Given the description of an element on the screen output the (x, y) to click on. 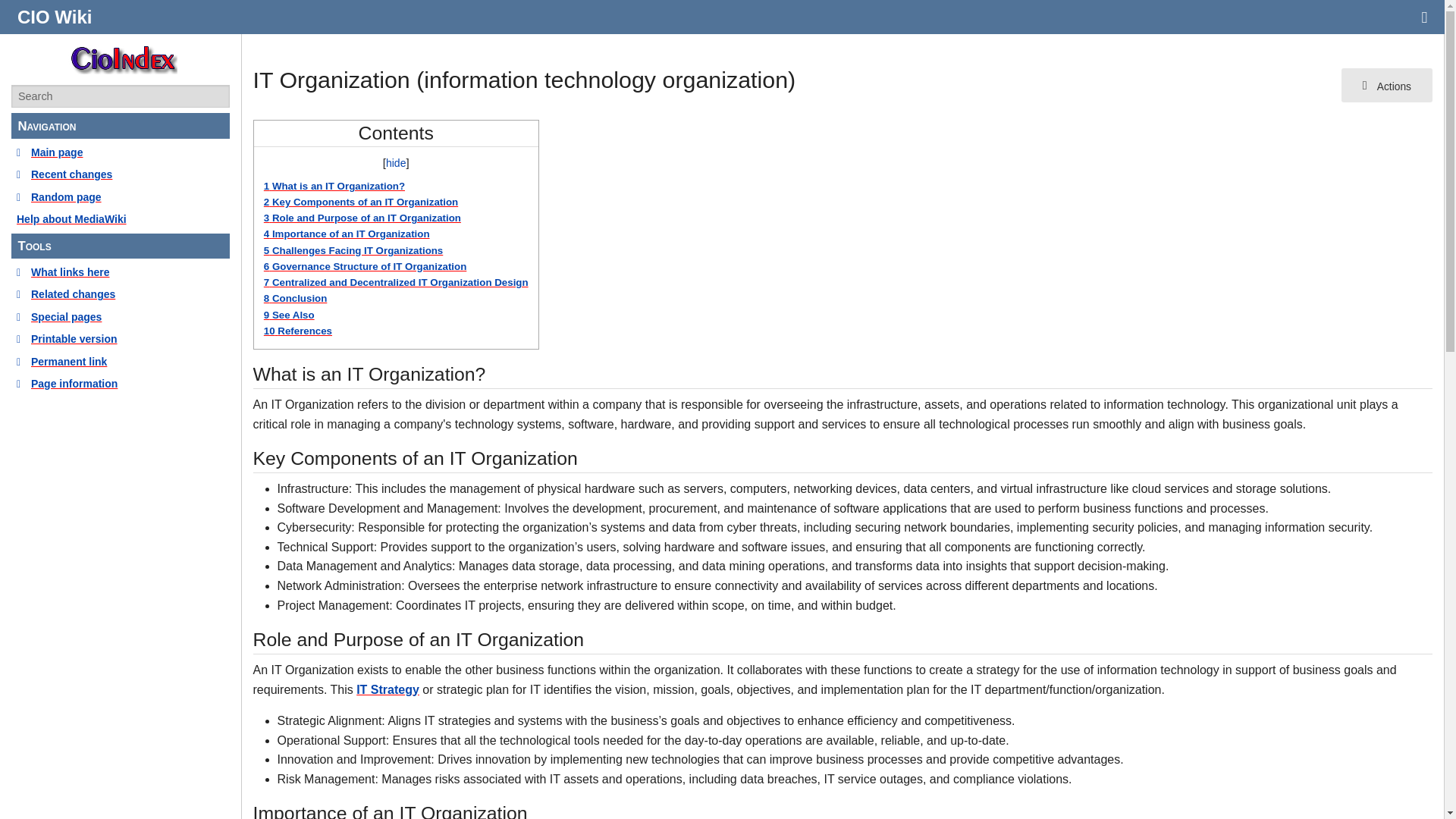
Page information (120, 383)
6 Governance Structure of IT Organization (364, 266)
9 See Also (288, 315)
Permanent link (120, 361)
Main page (120, 152)
5 Challenges Facing IT Organizations (352, 250)
2 Key Components of an IT Organization (360, 202)
8 Conclusion (295, 297)
What links here (120, 271)
CIO Wiki (54, 16)
